Given the description of an element on the screen output the (x, y) to click on. 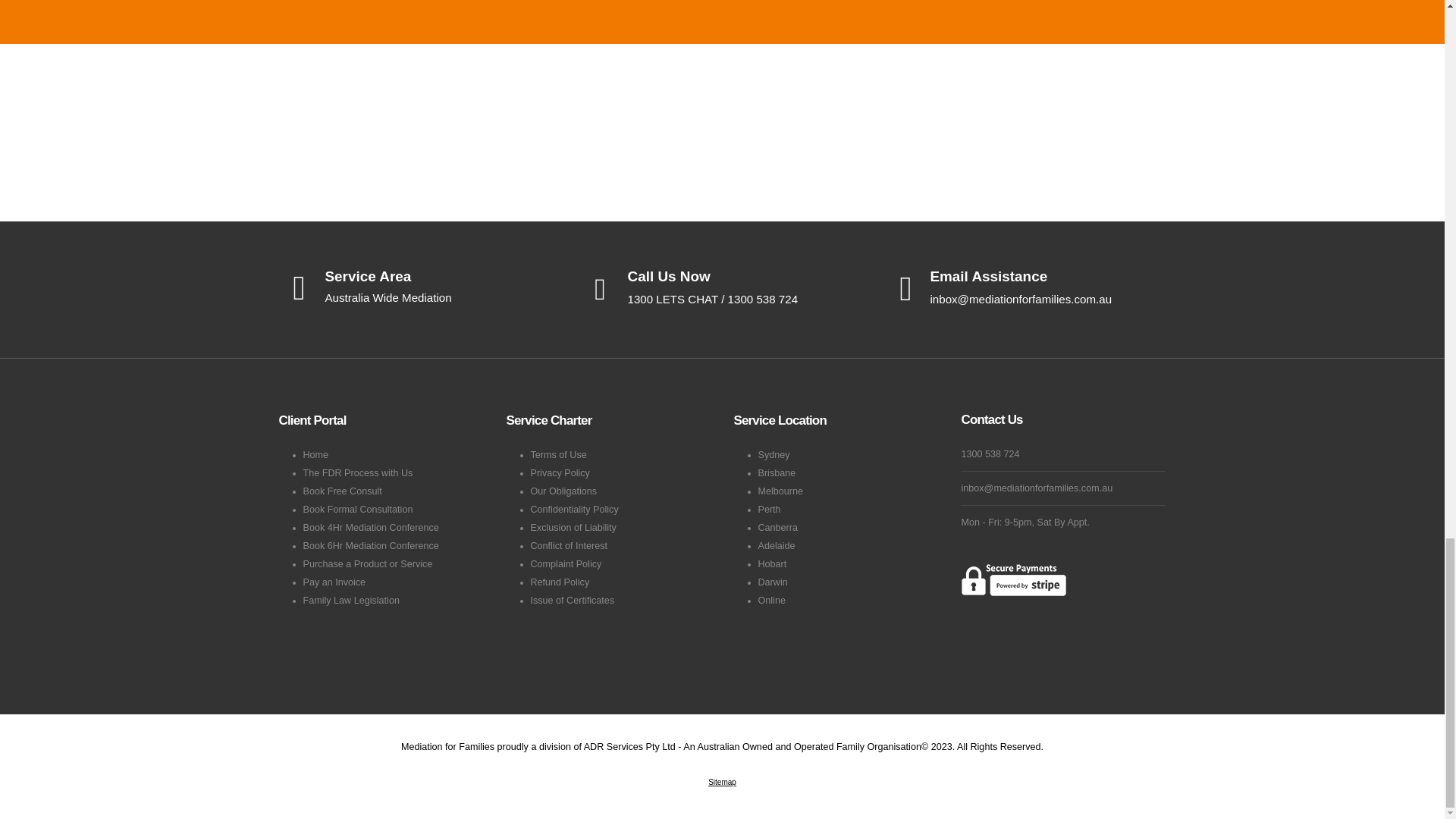
Locations (419, 288)
